Given the description of an element on the screen output the (x, y) to click on. 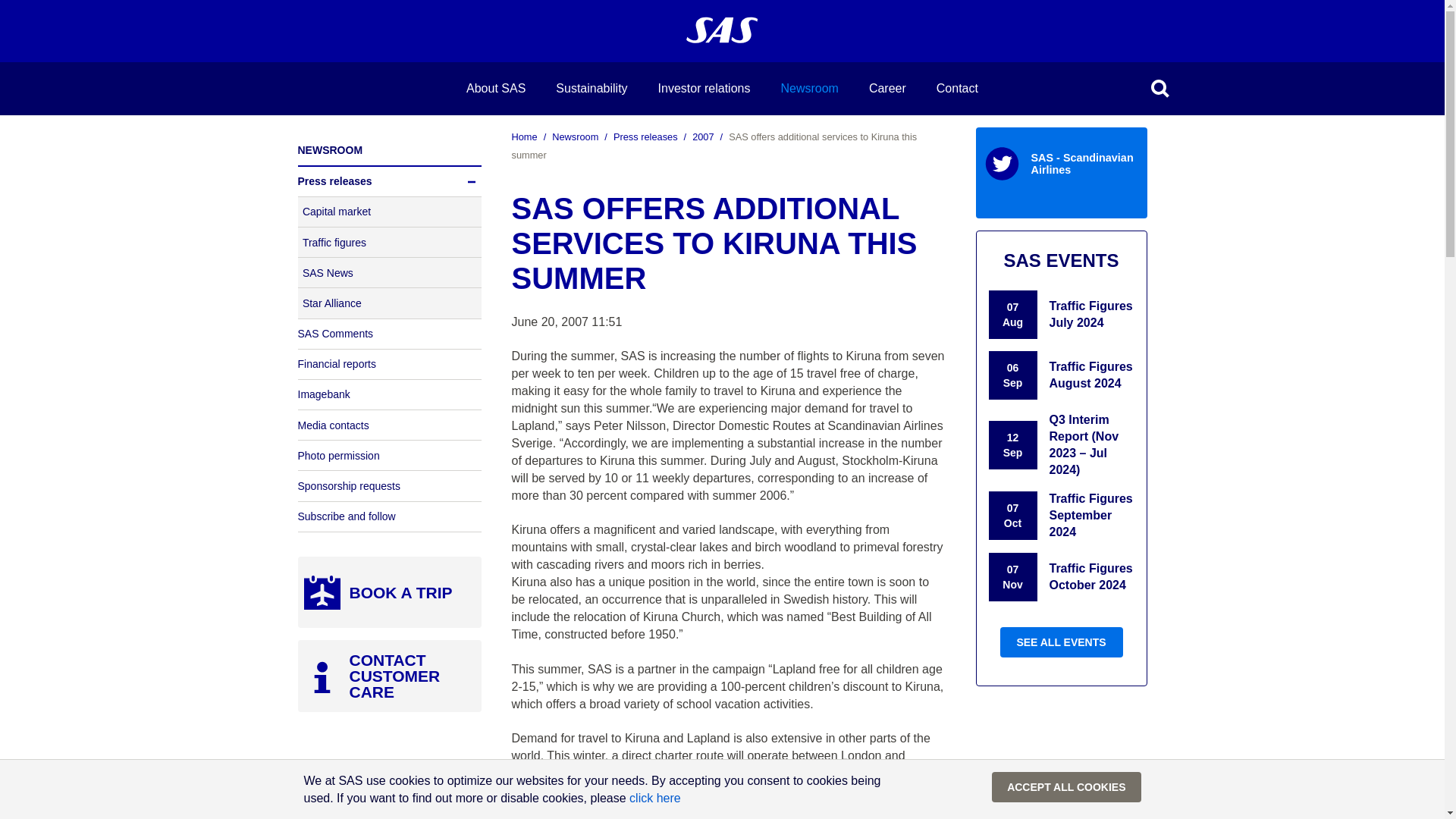
About SAS (495, 93)
